Given the description of an element on the screen output the (x, y) to click on. 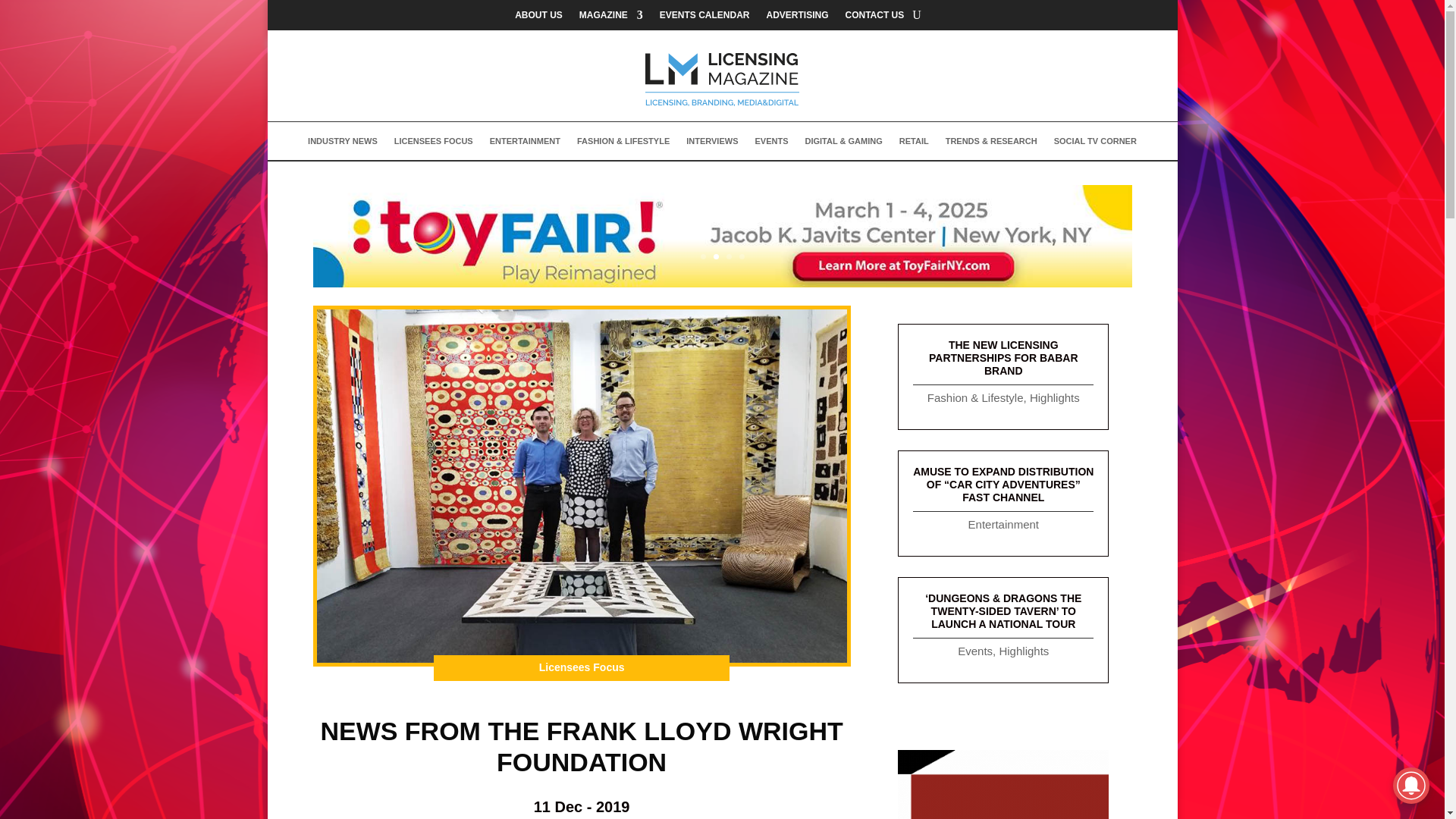
ENTERTAINMENT (524, 143)
EVENTS (770, 143)
ADVERTISING (796, 17)
INTERVIEWS (711, 143)
MAGAZINE (611, 17)
RETAIL (913, 143)
LICENSEES FOCUS (433, 143)
EVENTS CALENDAR (704, 17)
CONTACT US (874, 17)
ABOUT US (538, 17)
SOCIAL TV CORNER (1095, 143)
INDUSTRY NEWS (342, 143)
